Given the description of an element on the screen output the (x, y) to click on. 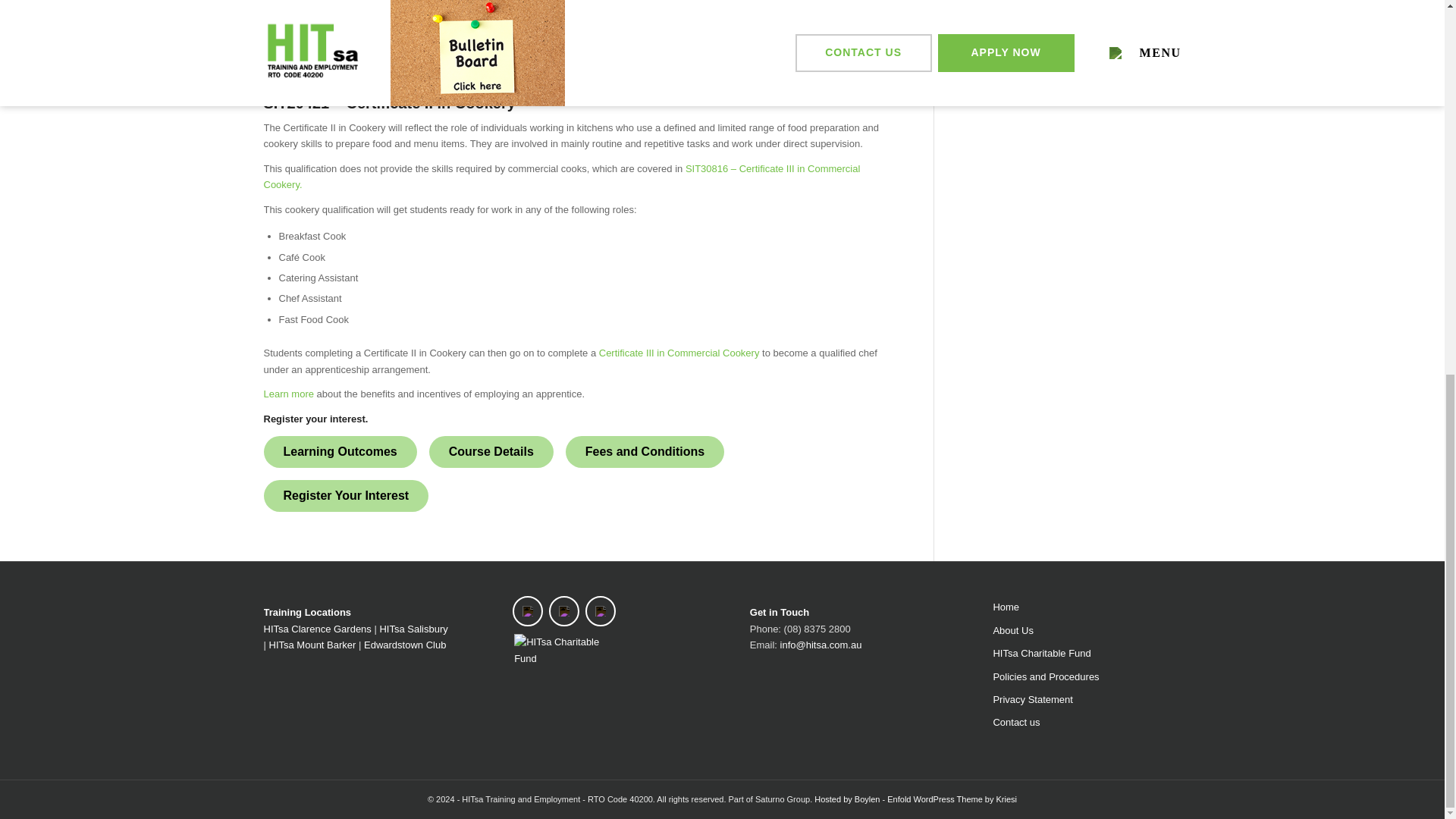
About HITsa Industry Training (1086, 630)
Follow us on Instagram! (564, 611)
HITsa Charitable Fund (562, 649)
Welcome to HITsa Industry Training (1086, 607)
Like us on Facebook! (527, 611)
Subscribe to our YouTube! (600, 611)
